Given the description of an element on the screen output the (x, y) to click on. 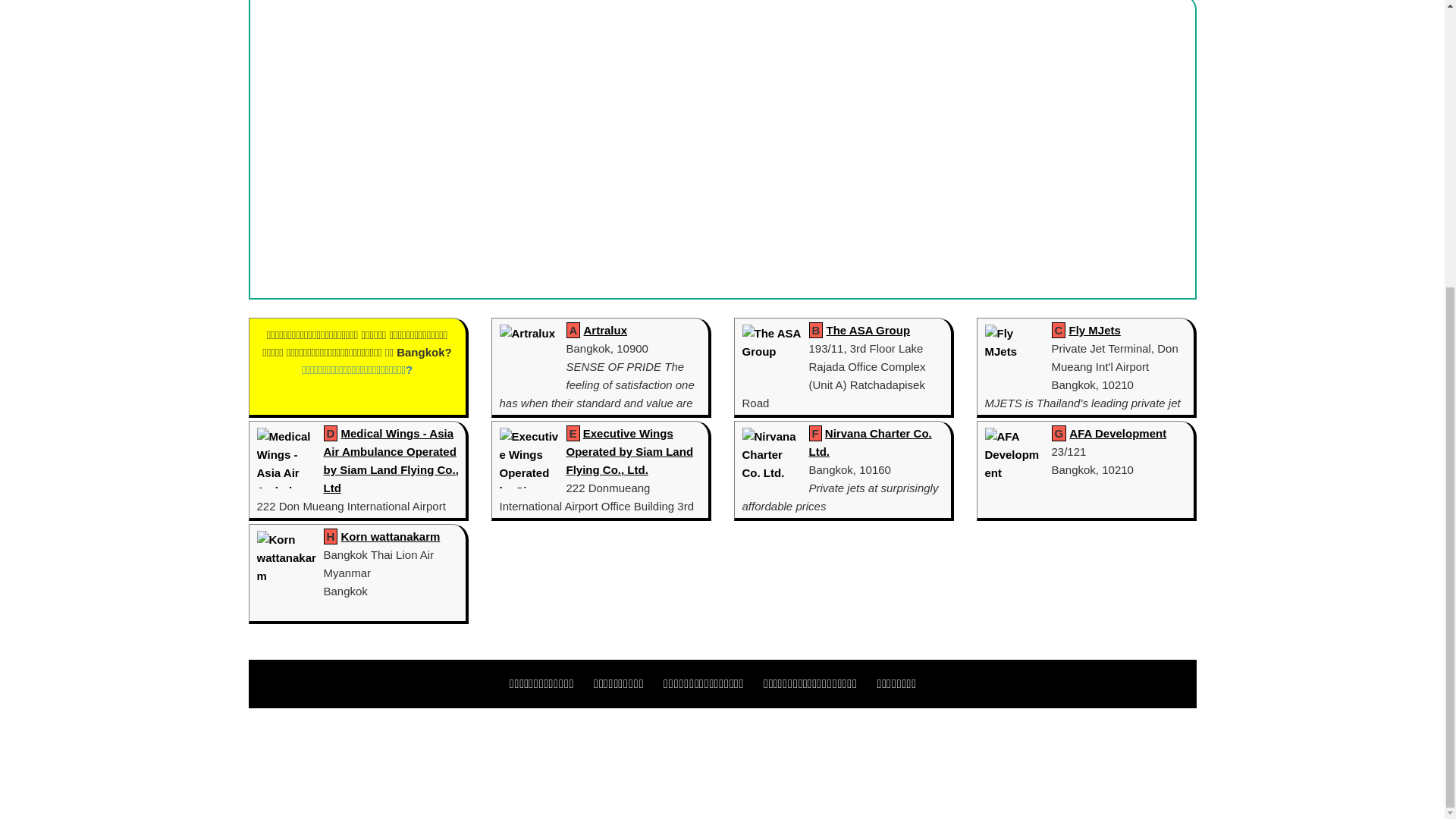
Nirvana Charter Co. Ltd. (869, 441)
AFA Development (1117, 432)
The ASA Group (869, 329)
Executive Wings Operated by Siam Land Flying Co., Ltd. (629, 450)
Korn wattanakarm (390, 535)
Artralux (605, 329)
Fly MJets (1094, 329)
